Given the description of an element on the screen output the (x, y) to click on. 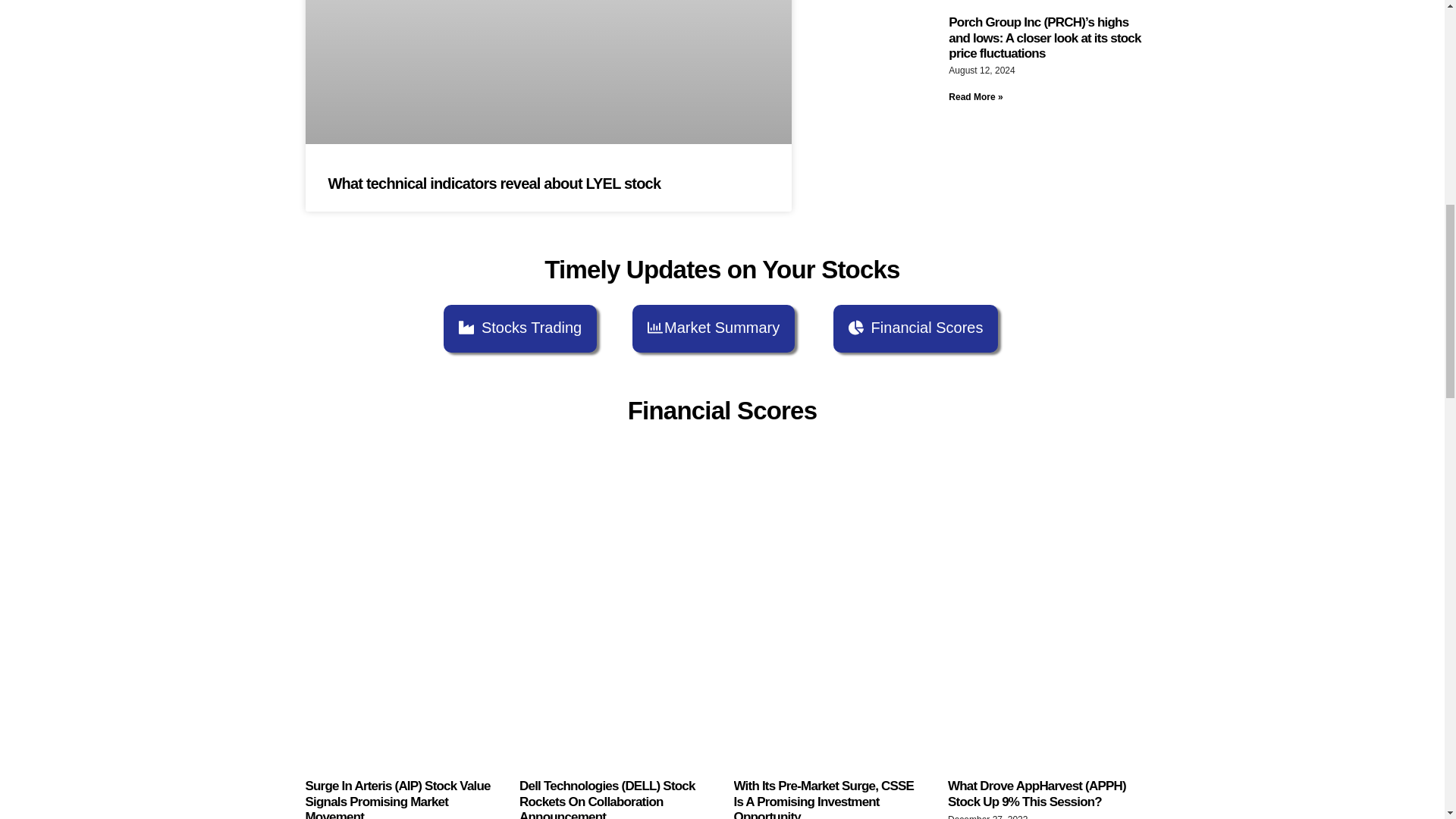
What technical indicators reveal about LYEL stock (494, 183)
Financial Scores (915, 328)
Market Summary (712, 328)
Stocks Trading (520, 328)
